Given the description of an element on the screen output the (x, y) to click on. 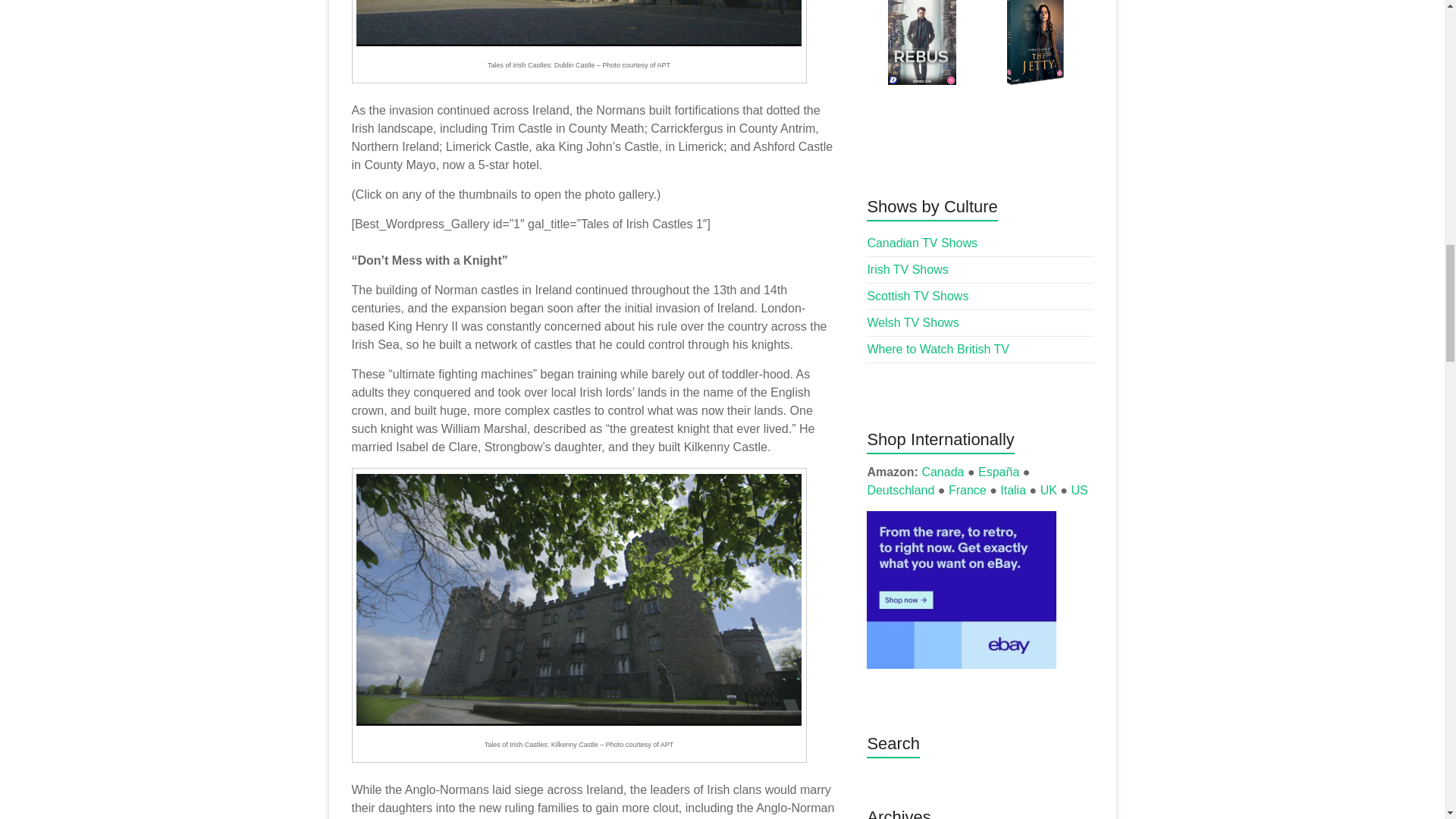
Canadian TV Shows Available for Streaming in the US (921, 242)
Where to Watch British TV in the US (937, 349)
Irish TV Shows Available for Streaming in the US (906, 269)
Welsh TV Shows Available for Streaming in the US (912, 322)
Scottish TV Shows Available for Streaming in the US (917, 295)
